Given the description of an element on the screen output the (x, y) to click on. 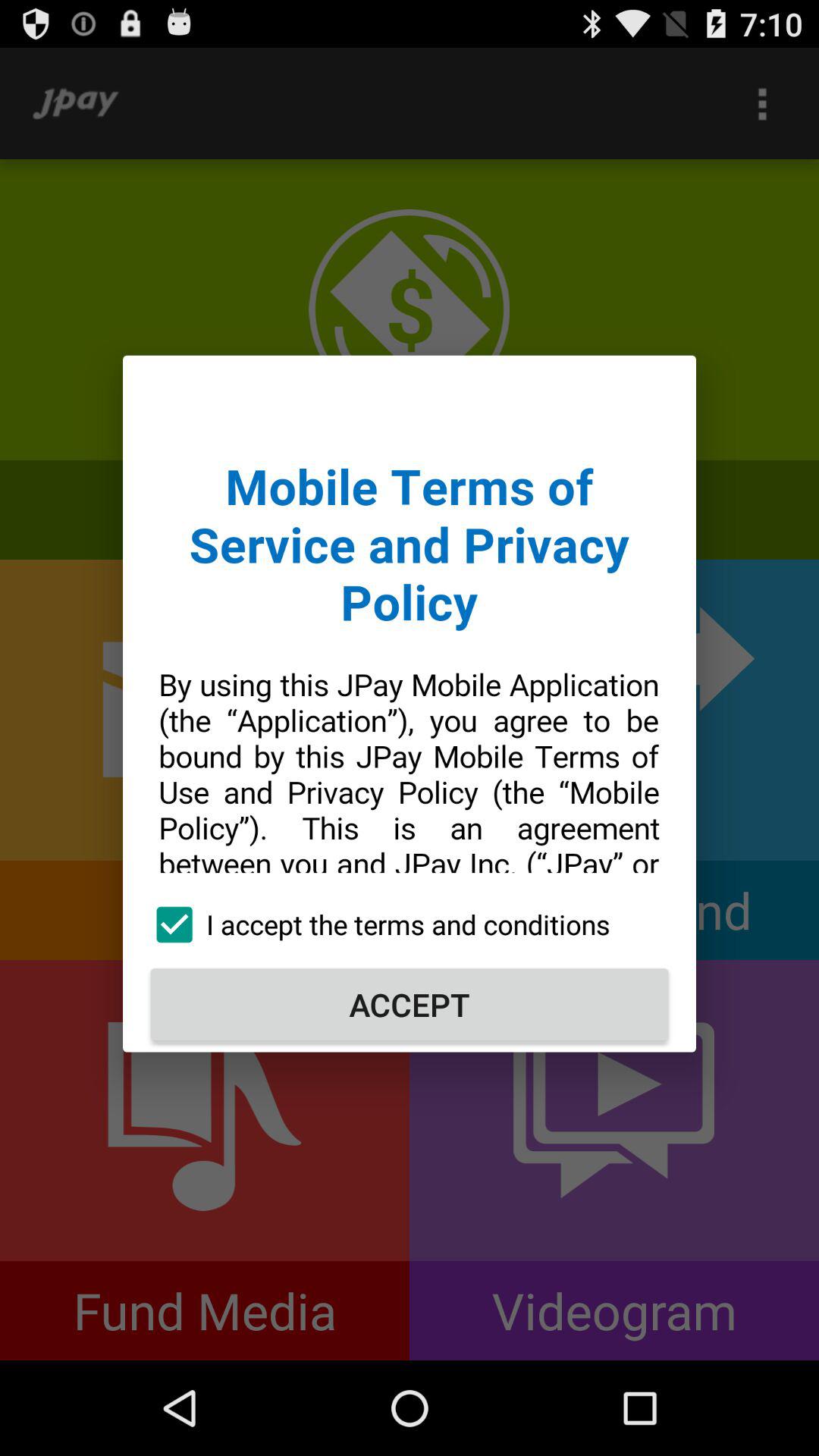
privacy notes (409, 629)
